Given the description of an element on the screen output the (x, y) to click on. 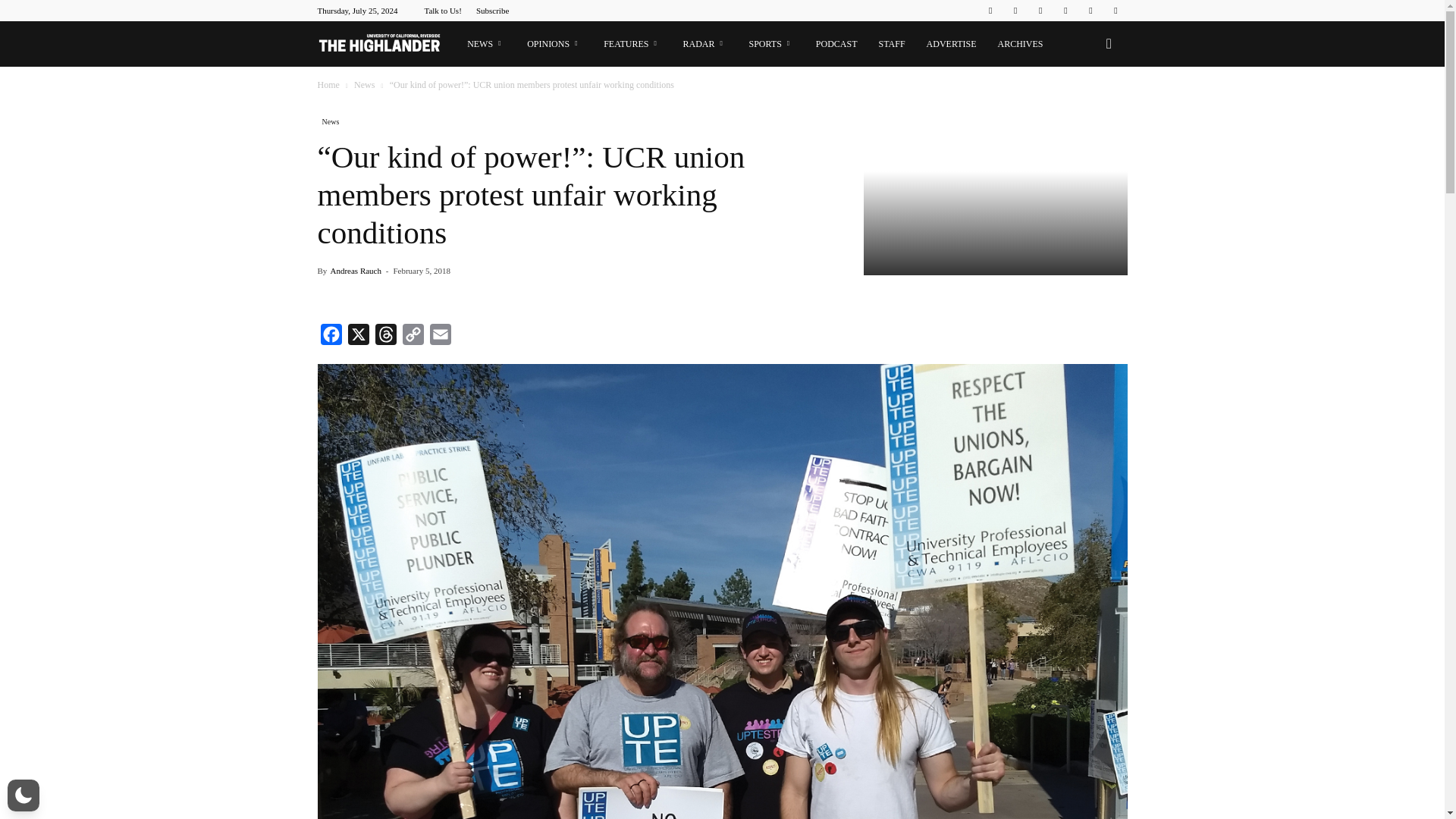
Twitter (1090, 10)
X (357, 337)
Facebook (330, 337)
Instagram (1015, 10)
View all posts in News (365, 84)
Linkedin (1040, 10)
Youtube (1114, 10)
Talk to Us! (442, 10)
Facebook (989, 10)
Threads (384, 337)
Spotify (1065, 10)
